Given the description of an element on the screen output the (x, y) to click on. 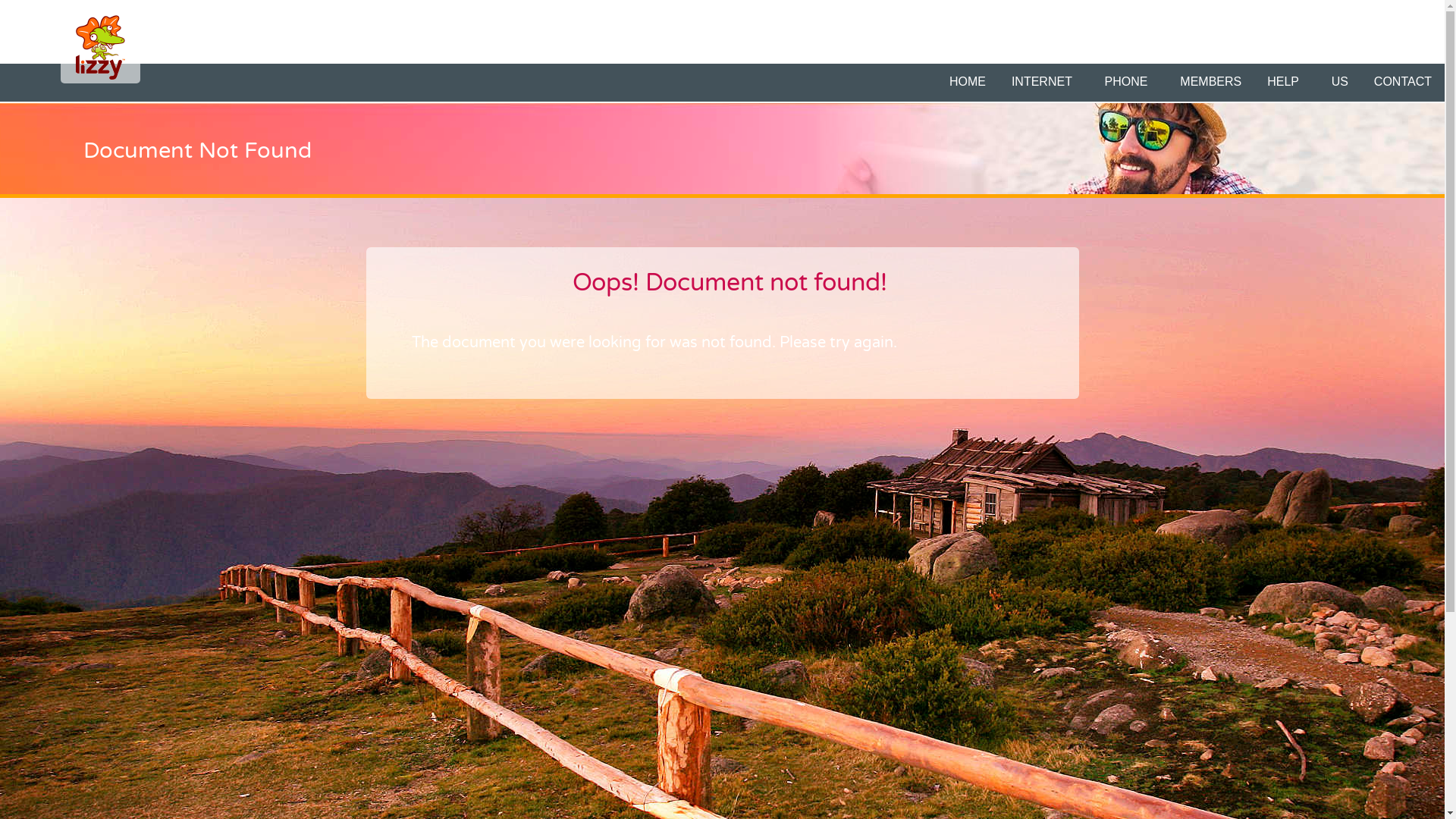
HELP   Element type: text (1285, 81)
INTERNET   Element type: text (1045, 81)
MEMBERS Element type: text (1210, 81)
CONTACT Element type: text (1402, 81)
PHONE   Element type: text (1129, 81)
HOME Element type: text (967, 81)
US Element type: text (1339, 81)
